Given the description of an element on the screen output the (x, y) to click on. 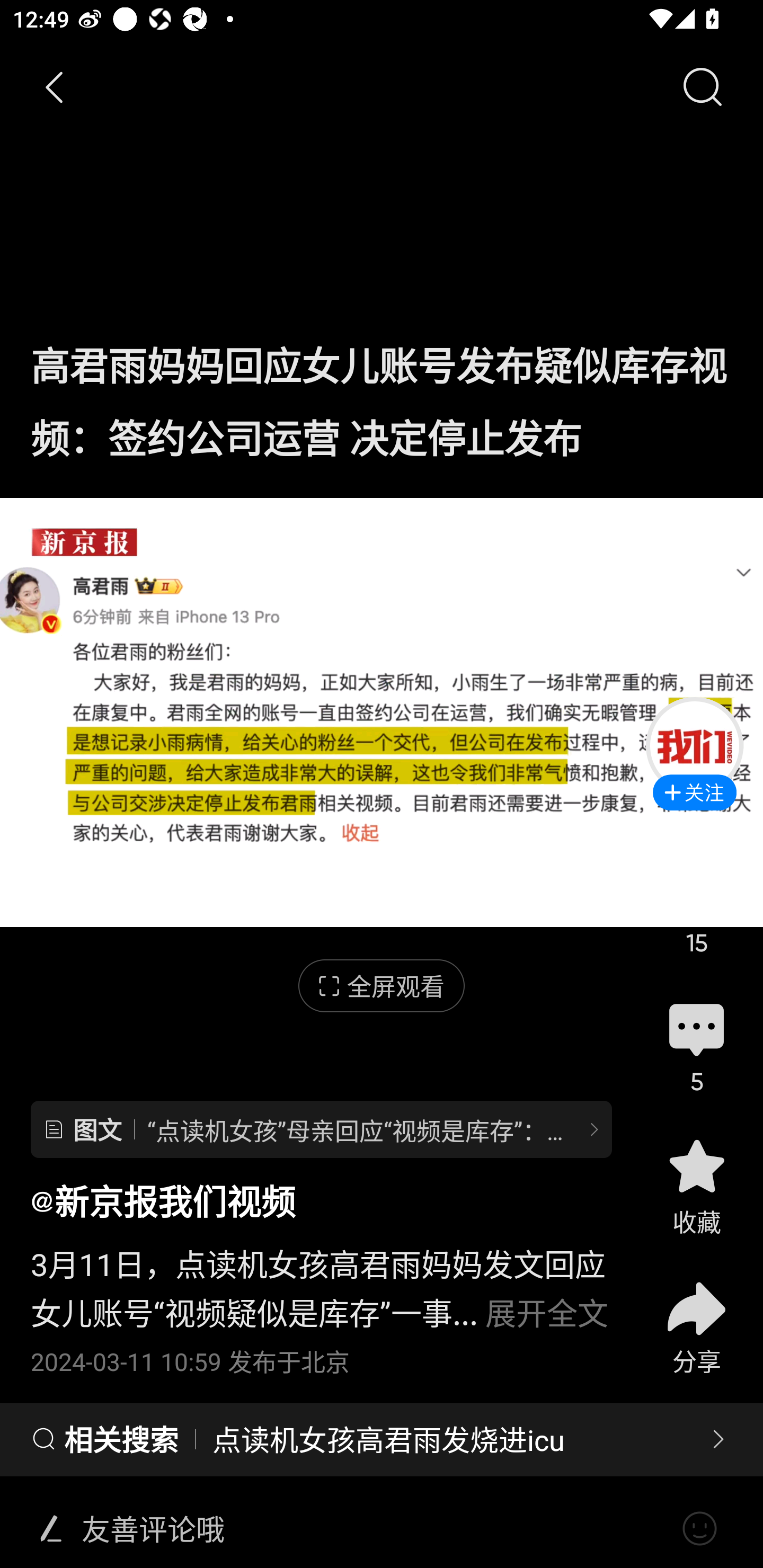
 返回 (54, 87)
 搜索 (701, 87)
赞 15 (696, 906)
全屏观看 (381, 985)
评论  5 (696, 1045)
图文 “点读机女孩”母亲回应“视频是库存”：签约公司所发，我们非常气愤  (320, 1129)
收藏 (696, 1184)
新京报我们视频 (163, 1200)
分享  分享 (696, 1315)
相关搜索 点读机女孩高君雨发烧进icu  (381, 1440)
友善评论哦 发表评论 (373, 1529)
 (50, 1528)
 (699, 1528)
